Given the description of an element on the screen output the (x, y) to click on. 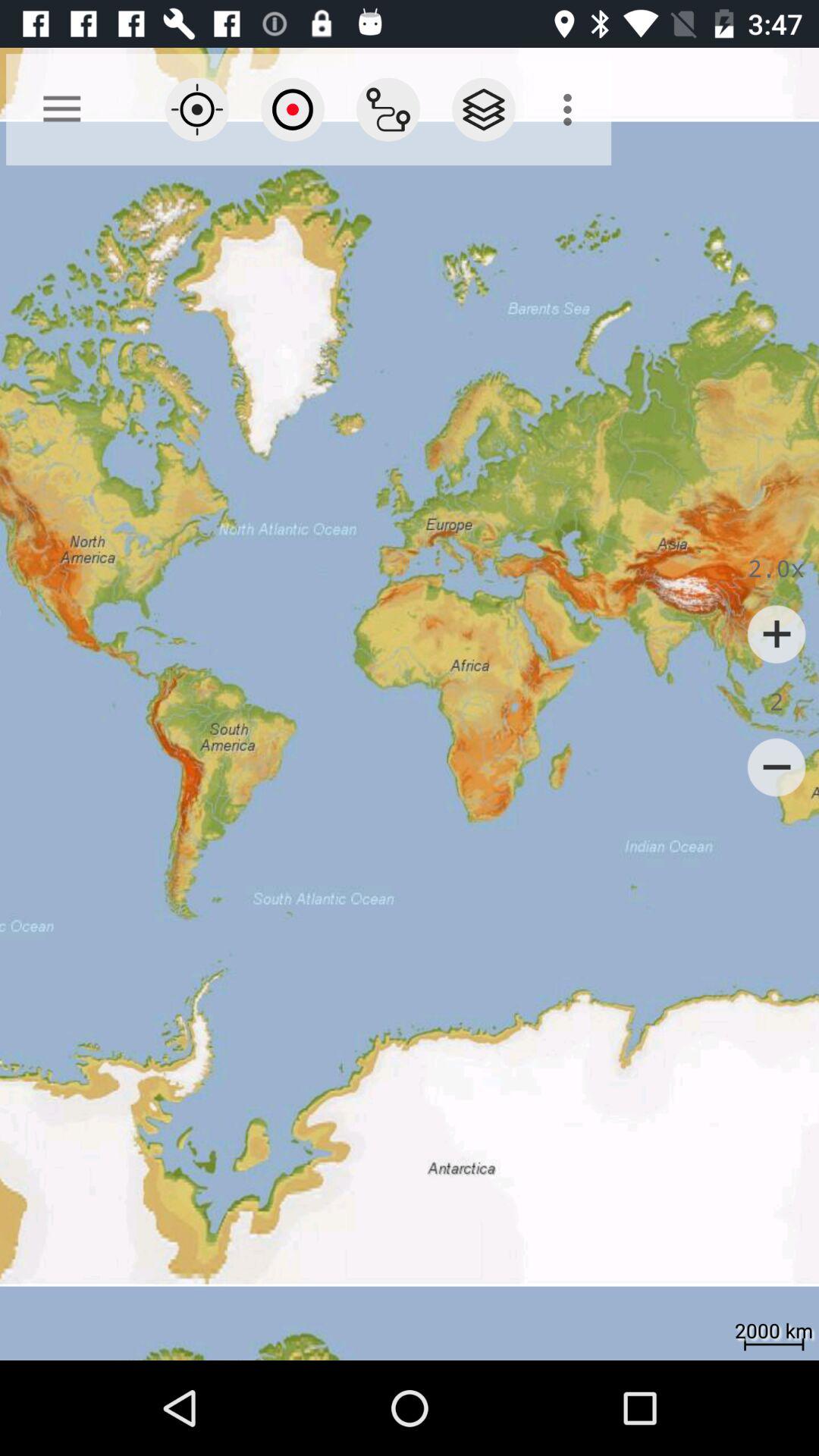
turn off the item above 2 item (776, 634)
